Given the description of an element on the screen output the (x, y) to click on. 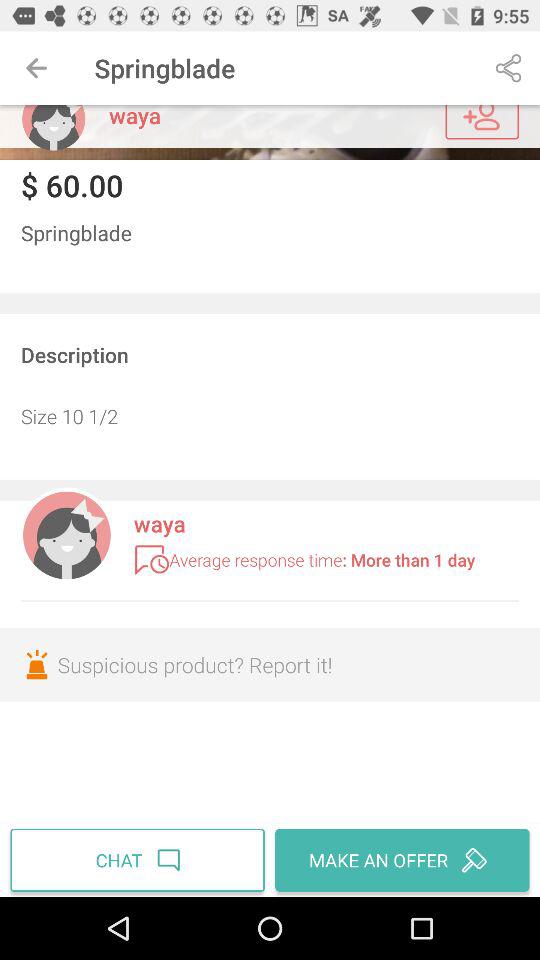
flip to the chat icon (139, 860)
